Given the description of an element on the screen output the (x, y) to click on. 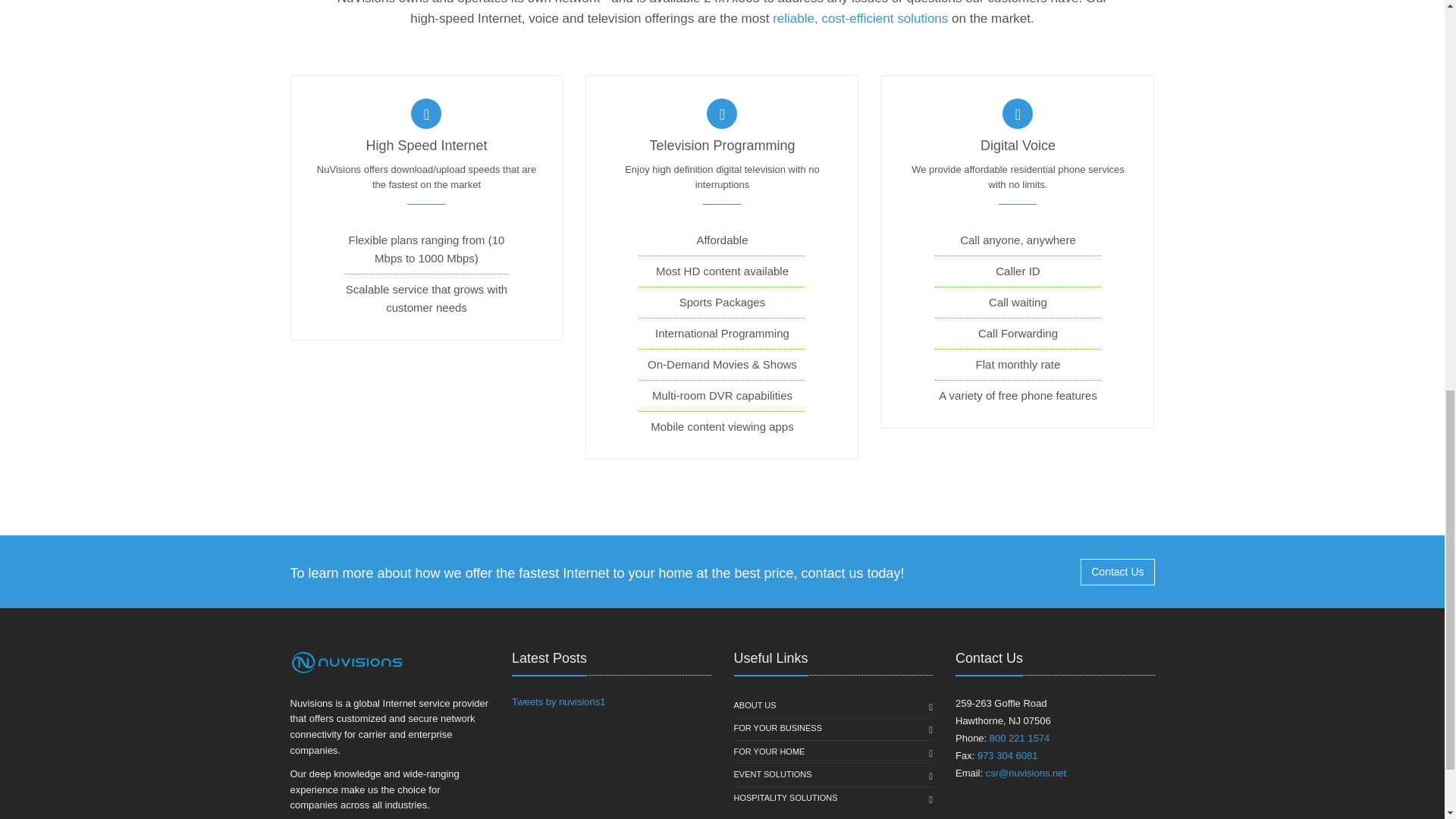
FOR YOUR HOME (769, 752)
Tweets by nuvisions1 (558, 701)
800 221 1574 (1019, 737)
FOR YOUR BUSINESS (777, 728)
Contact Us (1052, 570)
HOSPITALITY SOLUTIONS (785, 798)
973 304 6081 (1007, 755)
ABOUT US (754, 705)
Contact Us (1117, 571)
EVENT SOLUTIONS (772, 774)
